Given the description of an element on the screen output the (x, y) to click on. 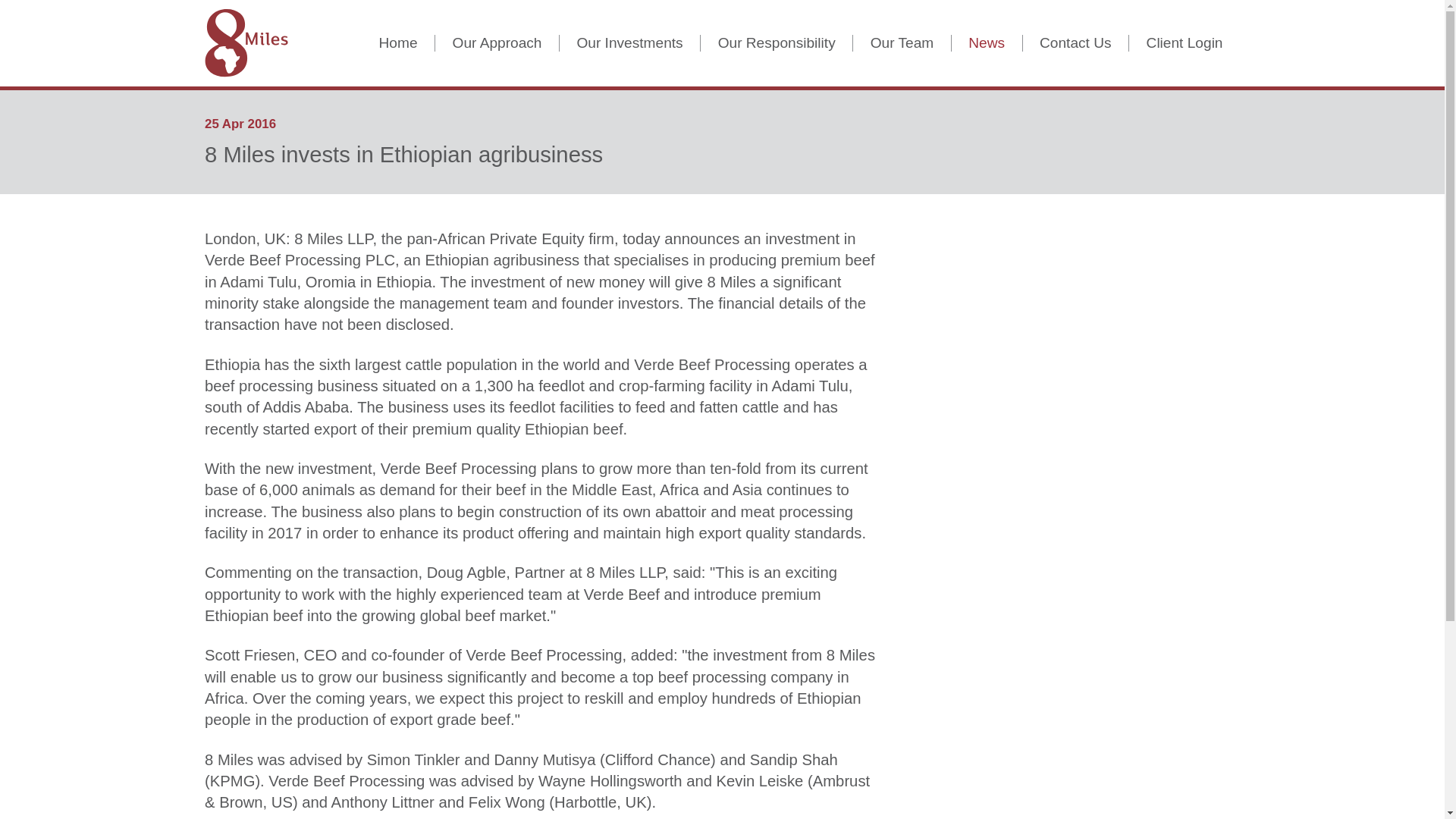
Our Investments (629, 43)
Our Team (901, 43)
Our Approach (497, 43)
Our Responsibility (775, 43)
Home (397, 43)
News (987, 43)
Contact Us (1076, 43)
Client Login (1184, 43)
